Given the description of an element on the screen output the (x, y) to click on. 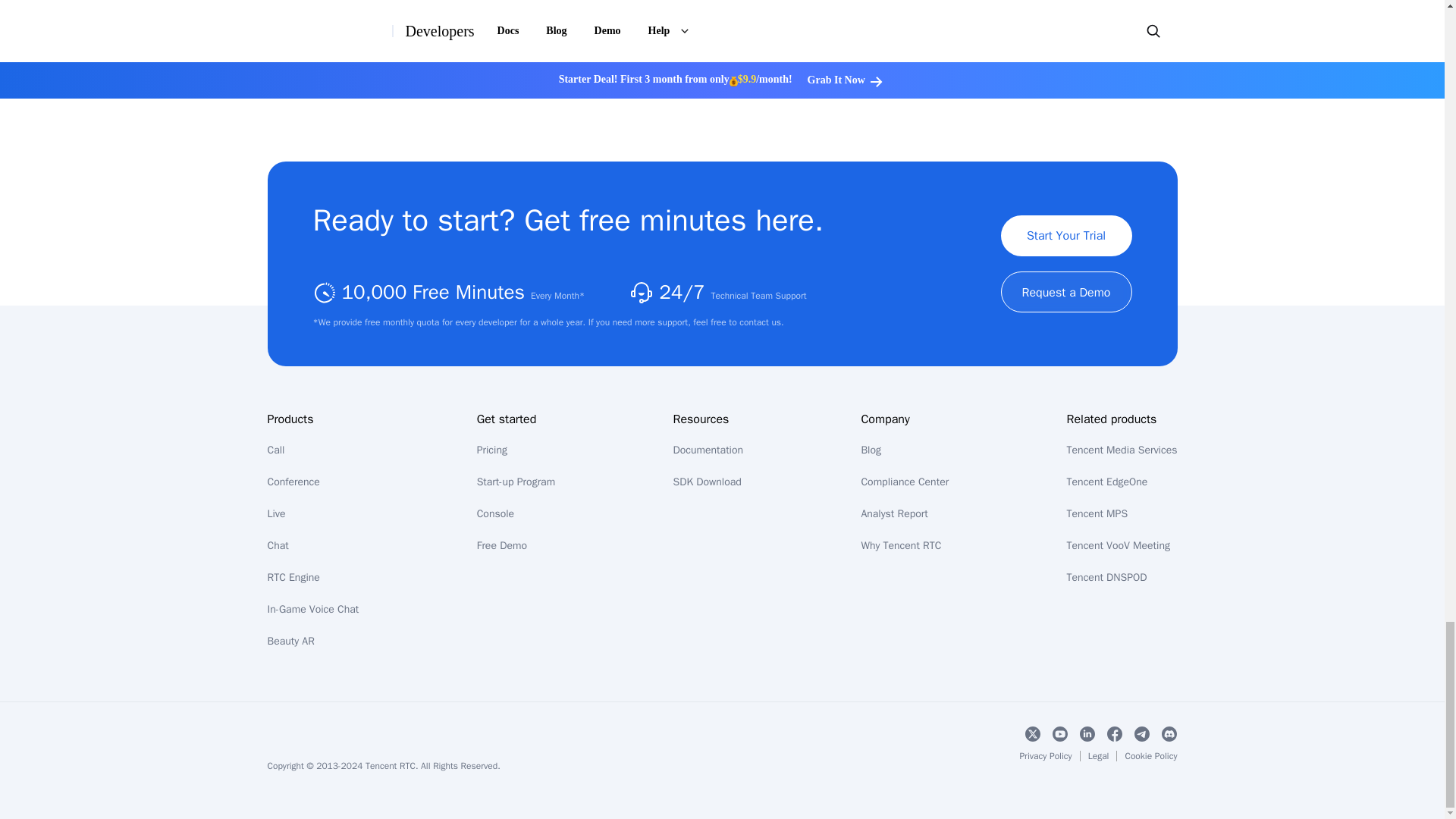
Call (274, 449)
Tencent VooV Meeting (1118, 545)
Chat (277, 545)
RTC Engine (292, 576)
Conclusion (471, 73)
Free Demo (502, 545)
Console (495, 513)
Why Choose Tencent RTC for Building a Live Chat App? (471, 41)
Why Tencent RTC (900, 545)
Tencent EdgeOne (1107, 481)
